Given the description of an element on the screen output the (x, y) to click on. 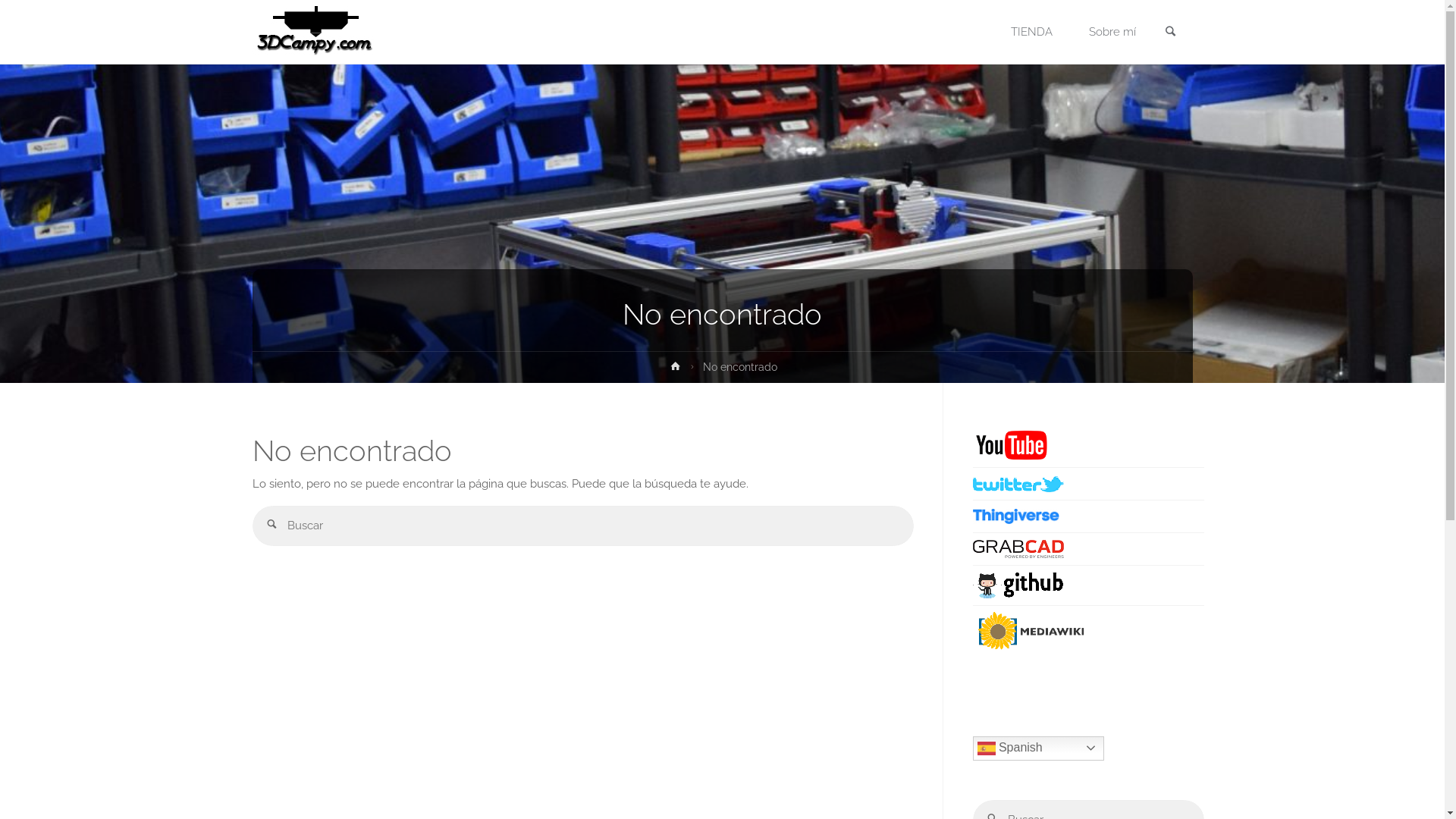
Inicio Element type: text (675, 368)
Youtube Element type: hover (1010, 444)
TIENDA Element type: text (1030, 32)
Youtube Element type: hover (1017, 548)
Youtube Element type: hover (1017, 585)
Youtube Element type: hover (1028, 630)
Youtube Element type: hover (1017, 484)
Buscar Element type: text (1170, 32)
3DEspana.com Element type: hover (312, 31)
Spanish Element type: text (1037, 747)
Buscar Element type: text (271, 525)
Youtube Element type: hover (1015, 516)
